Given the description of an element on the screen output the (x, y) to click on. 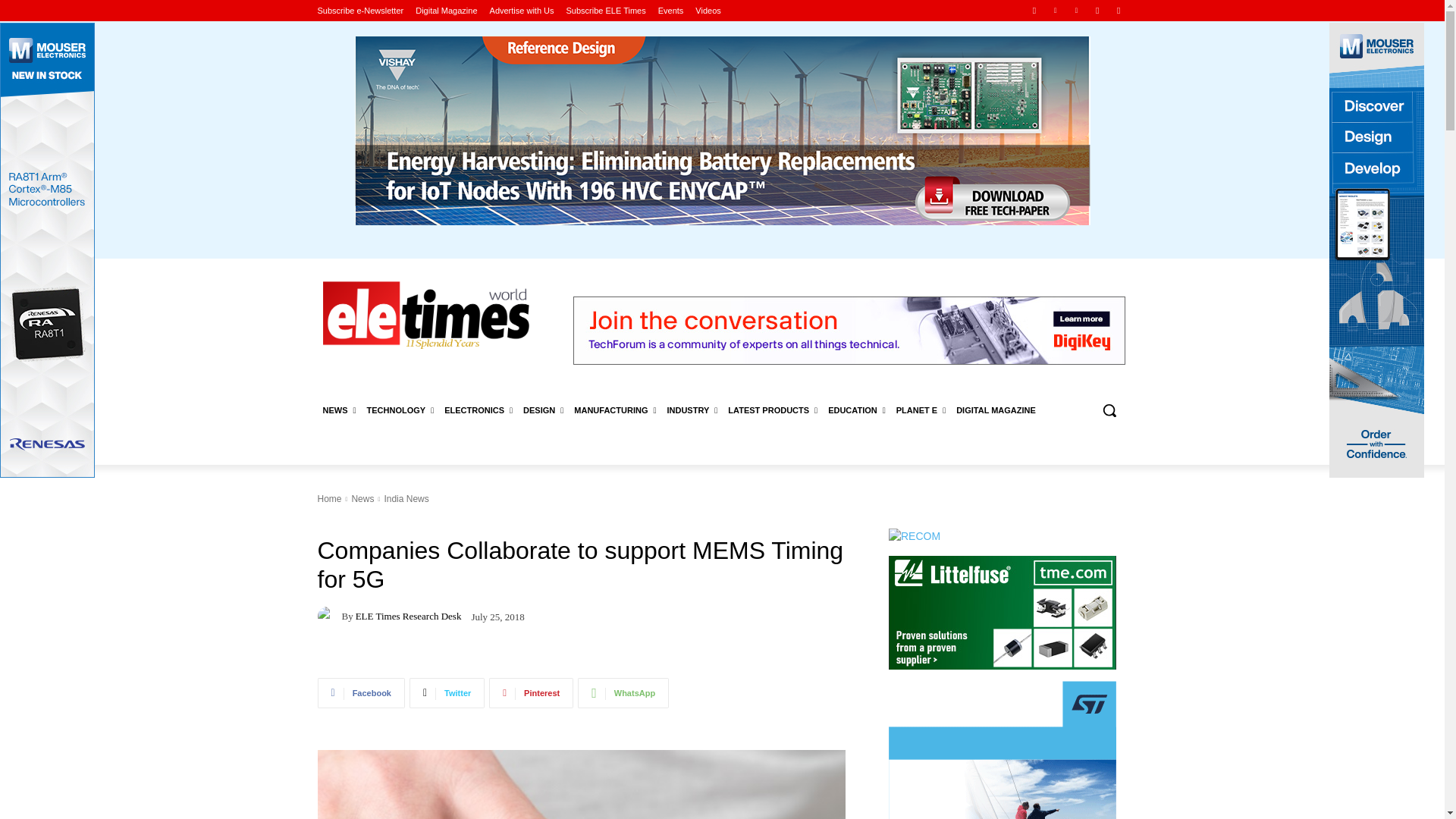
Linkedin (1055, 9)
Pinterest (1075, 9)
Facebook (1034, 9)
Twitter (1117, 9)
Tumblr (1097, 9)
